Given the description of an element on the screen output the (x, y) to click on. 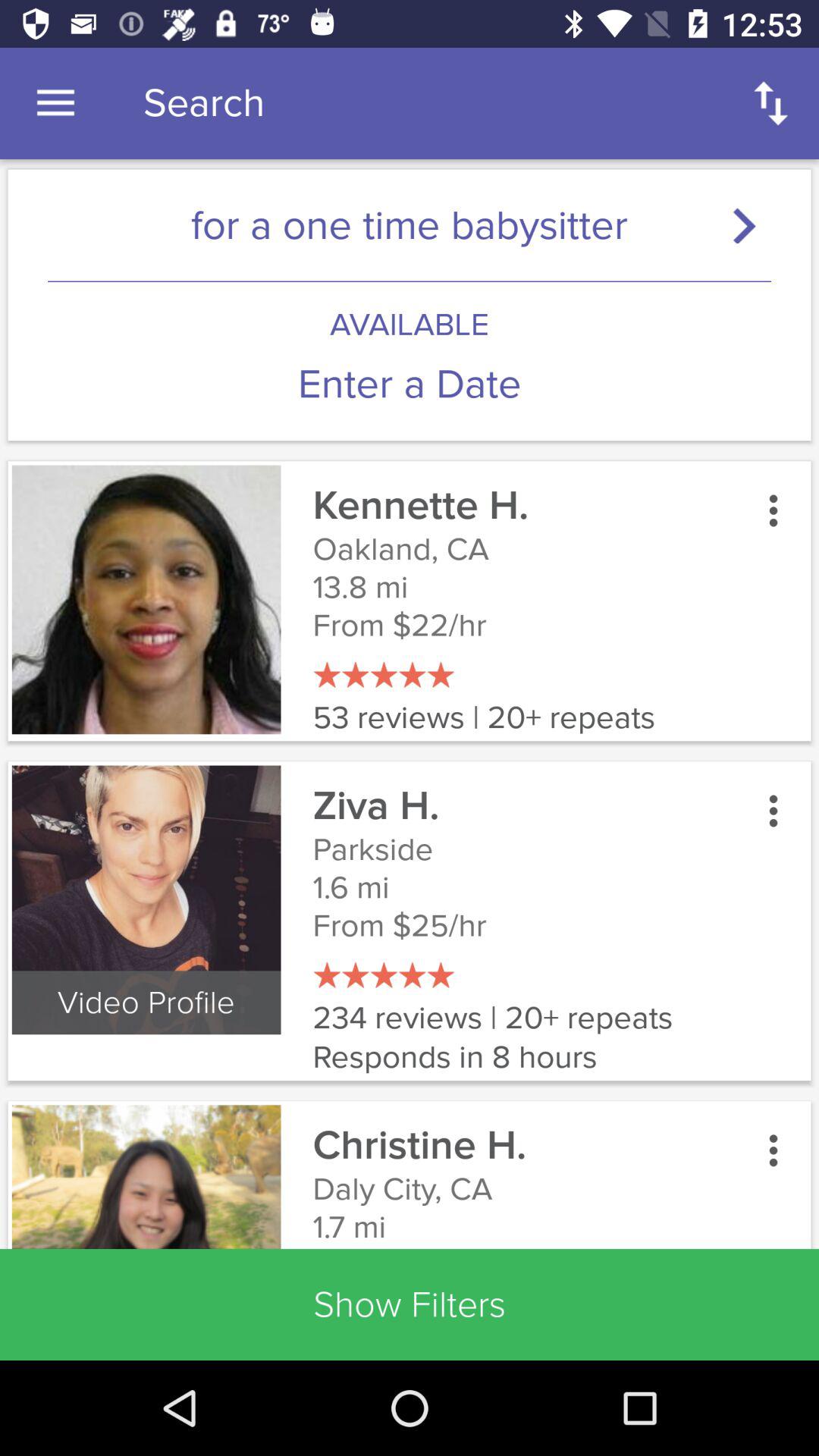
turn off the item next to the search icon (55, 103)
